Given the description of an element on the screen output the (x, y) to click on. 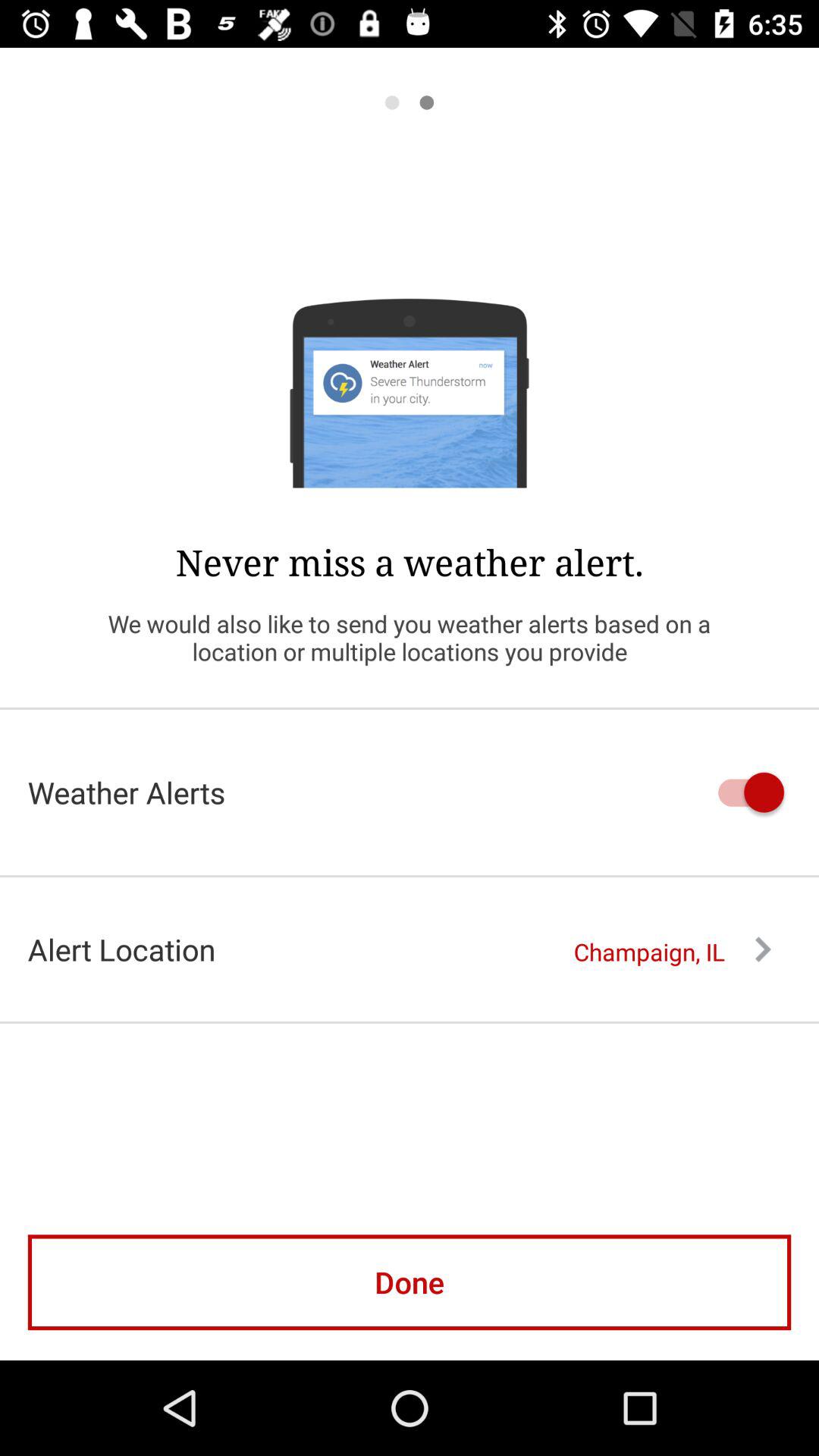
select the item next to the alert location item (672, 951)
